Given the description of an element on the screen output the (x, y) to click on. 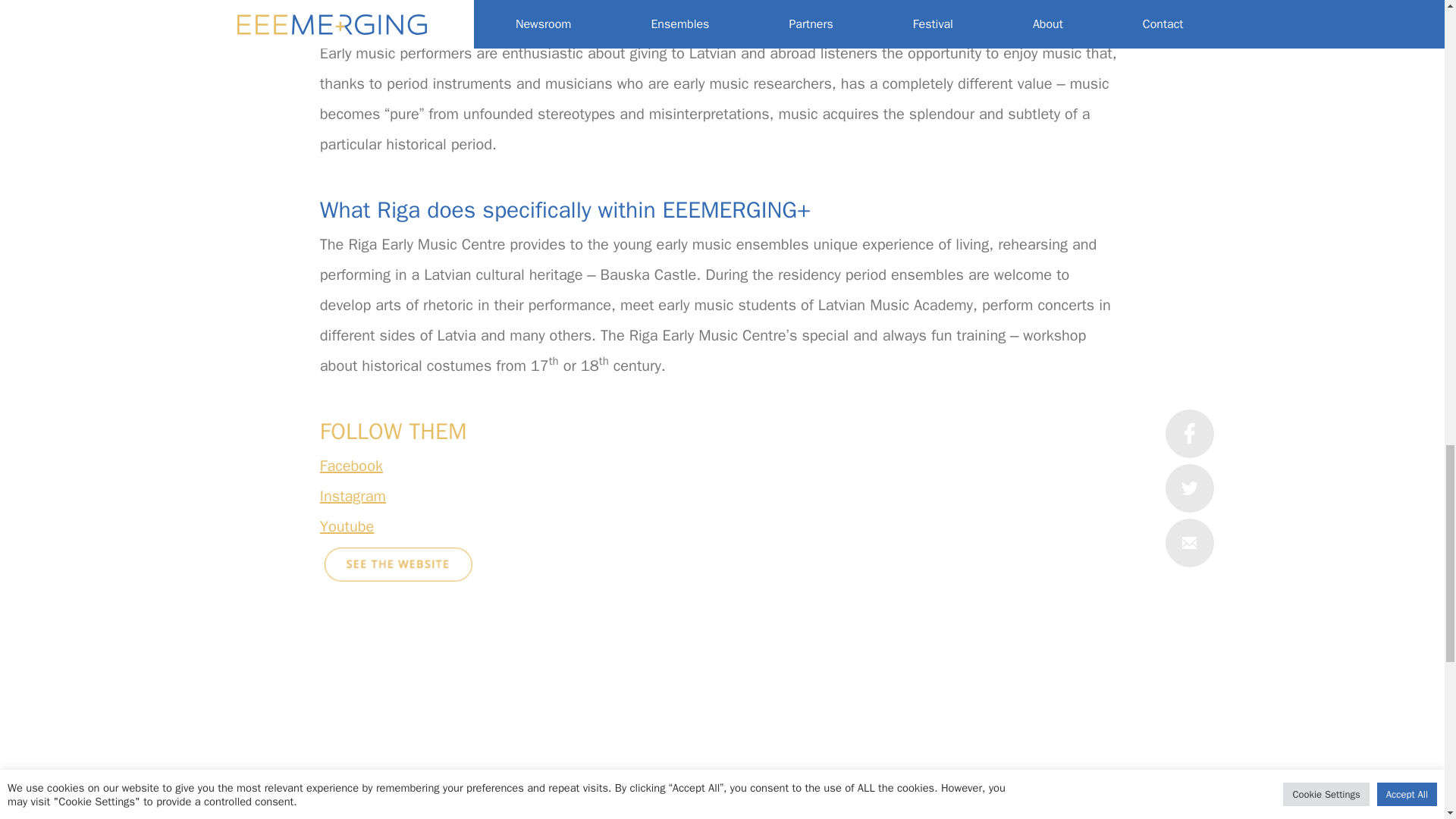
Facebook (351, 465)
Youtube (347, 526)
Instagram (352, 496)
